Given the description of an element on the screen output the (x, y) to click on. 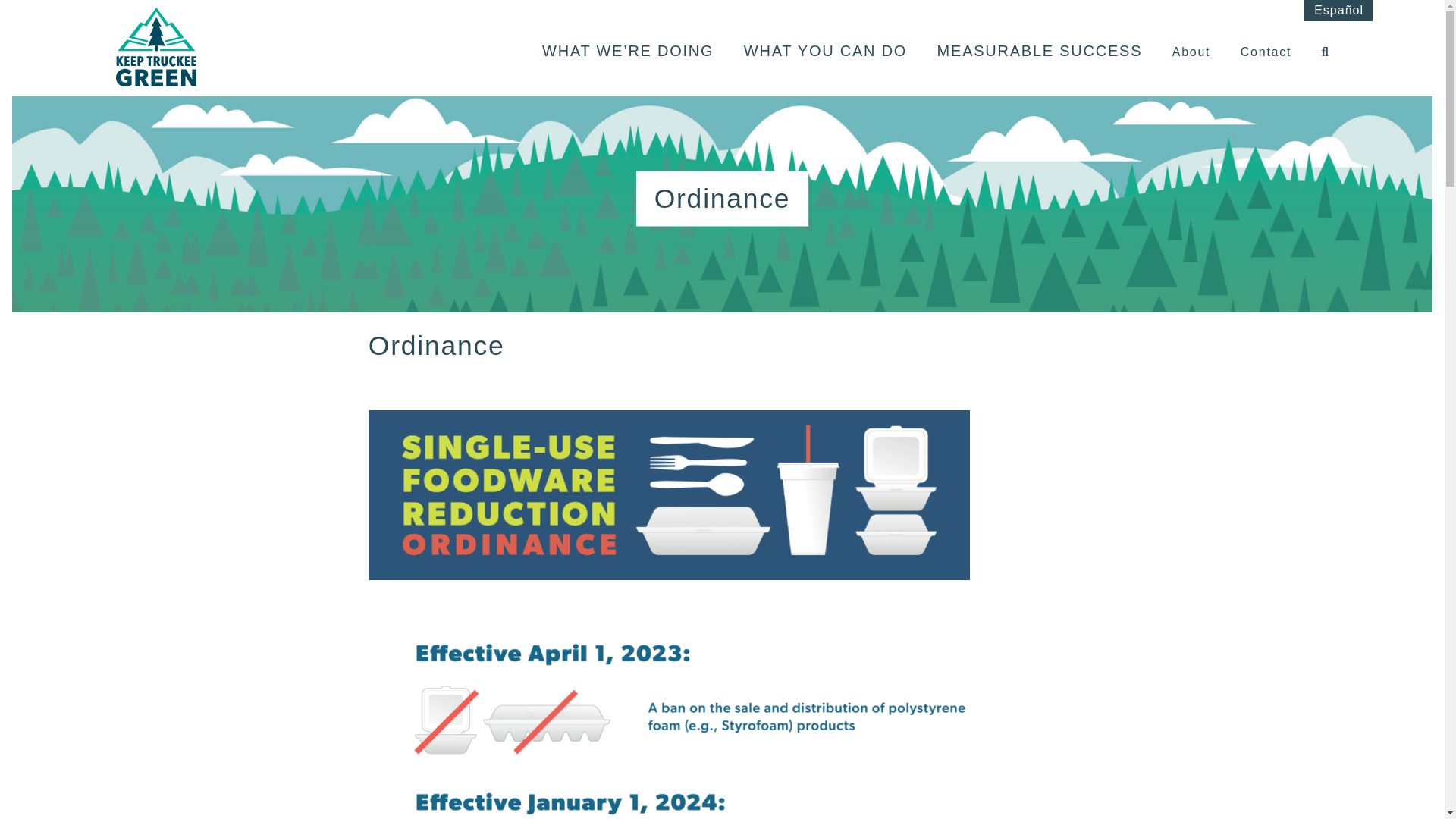
Contact (1265, 51)
About (1191, 51)
MEASURABLE SUCCESS (1039, 50)
WHAT YOU CAN DO (825, 50)
Spanish (1338, 10)
